Given the description of an element on the screen output the (x, y) to click on. 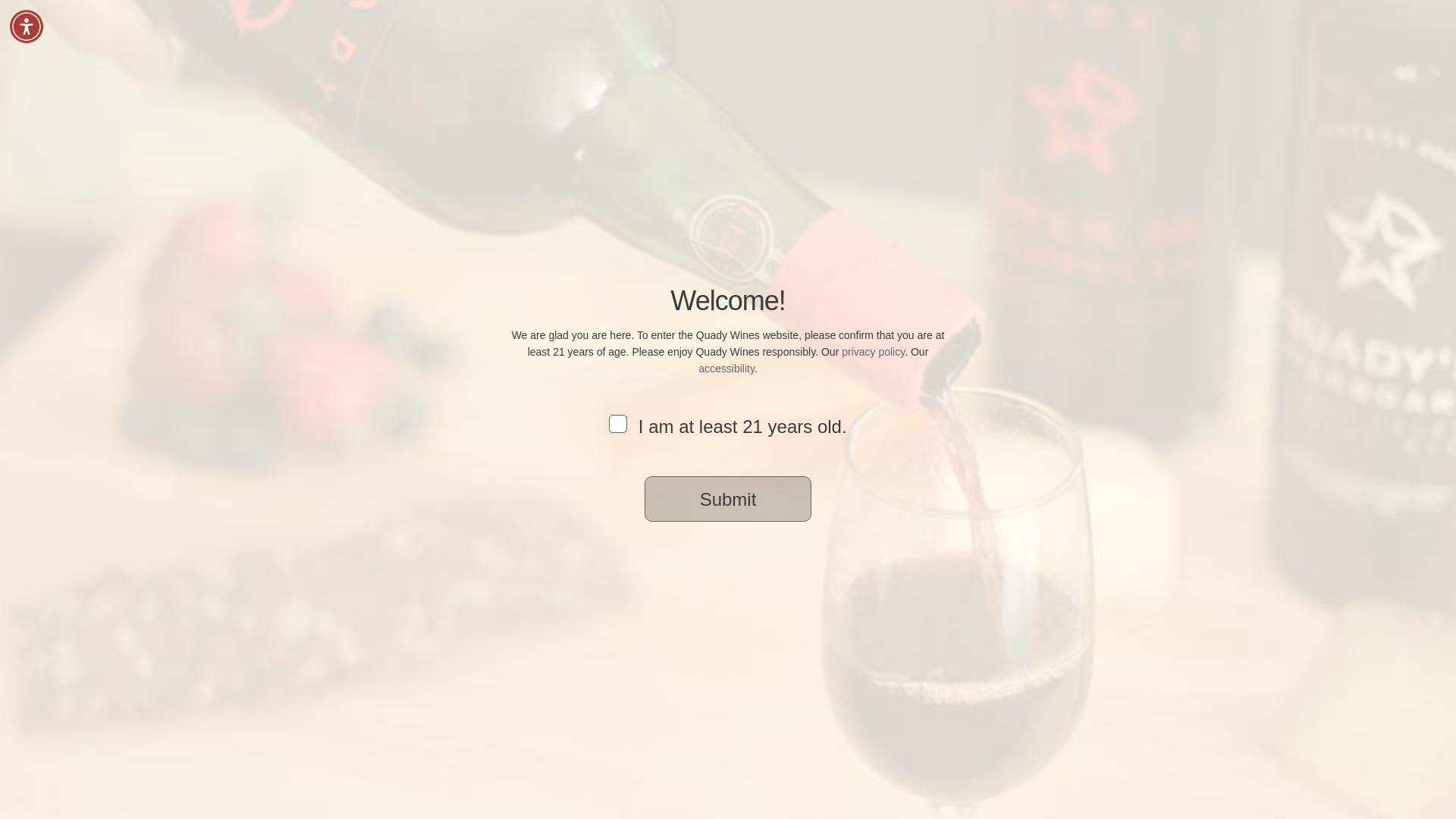
Quady Winery Home (407, 41)
Accessibility Menu (26, 26)
CLUB (888, 60)
LOCATE (1101, 60)
Print (1075, 609)
ABOUT (1029, 60)
privacy policy (872, 351)
CLUB (888, 60)
search-button (497, 163)
Your Account (969, 26)
RECIPES (957, 60)
VISIT (828, 60)
Log In (1049, 26)
search-button (497, 163)
RECIPES (957, 60)
